Given the description of an element on the screen output the (x, y) to click on. 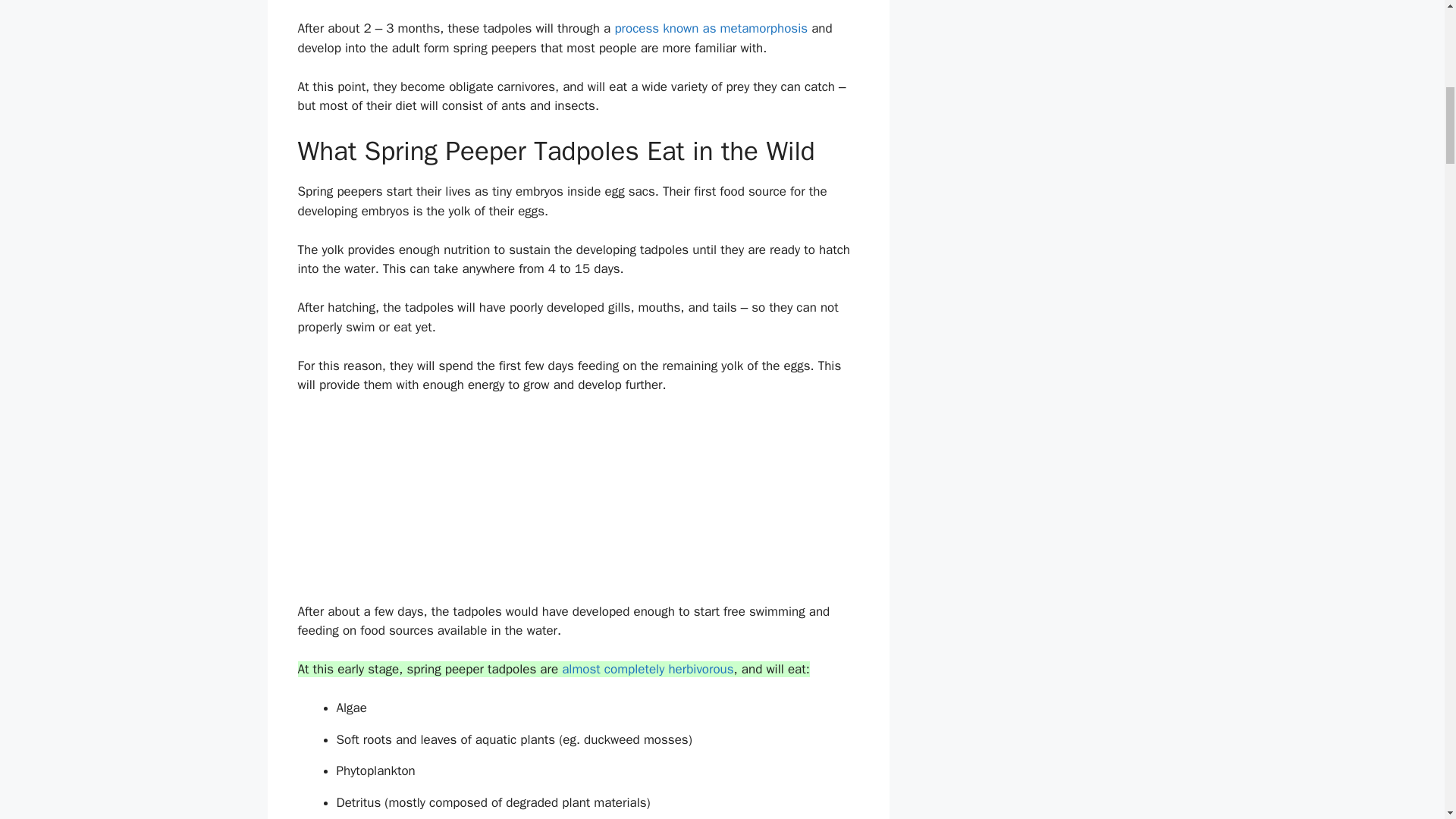
process known as metamorphosis (711, 28)
almost completely herbivorous (647, 668)
Scroll back to top (1406, 720)
